Given the description of an element on the screen output the (x, y) to click on. 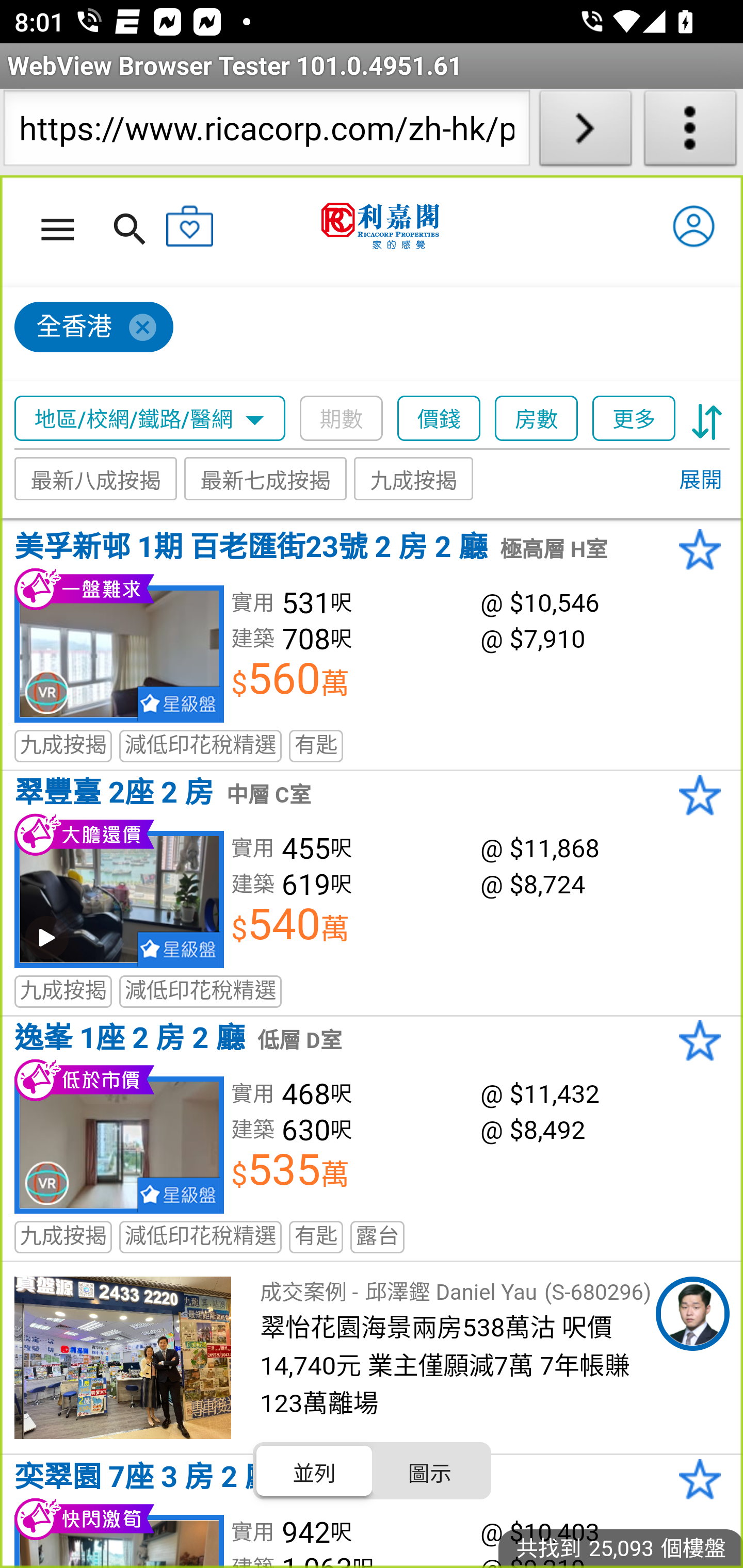
https://www.ricacorp.com/zh-hk/property/list/buy (266, 132)
Load URL (585, 132)
About WebView (690, 132)
全香港 (94, 327)
地區/校網/鐵路/醫網 (150, 418)
期數 (341, 418)
價錢 (439, 418)
房數 (536, 418)
更多 (634, 418)
sort (706, 418)
最新八成按揭 (96, 478)
最新七成按揭 (266, 478)
九成按揭 (413, 478)
展開 (699, 481)
Daniel Yau (692, 1313)
並列 (314, 1470)
圖示 (429, 1470)
